Given the description of an element on the screen output the (x, y) to click on. 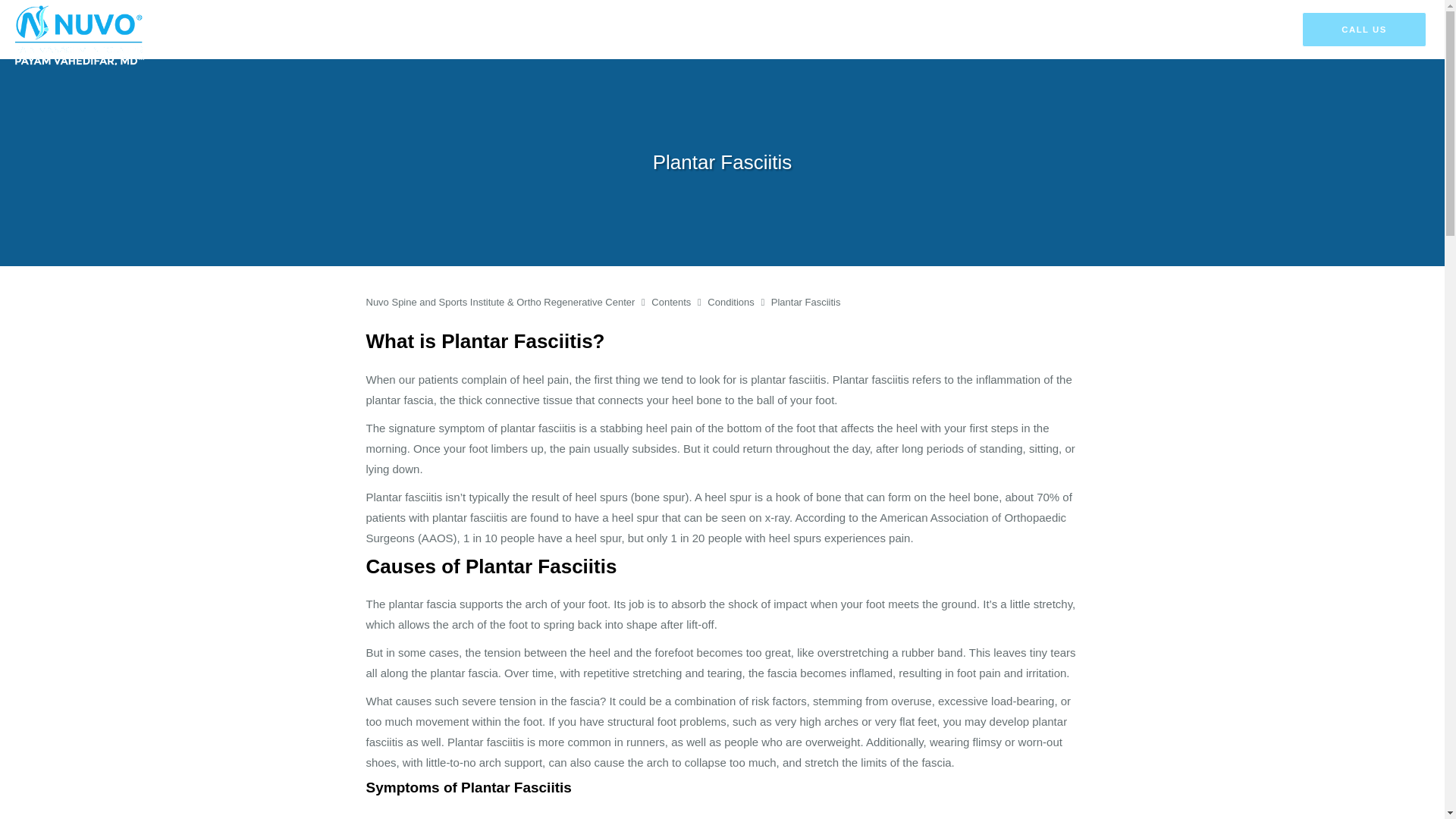
CONDITIONS (1000, 30)
ABOUT PRACTICE (669, 30)
Skip to main content (74, 7)
PROCEDURES (915, 30)
SERVICES (836, 30)
PROVIDERS (764, 30)
